Given the description of an element on the screen output the (x, y) to click on. 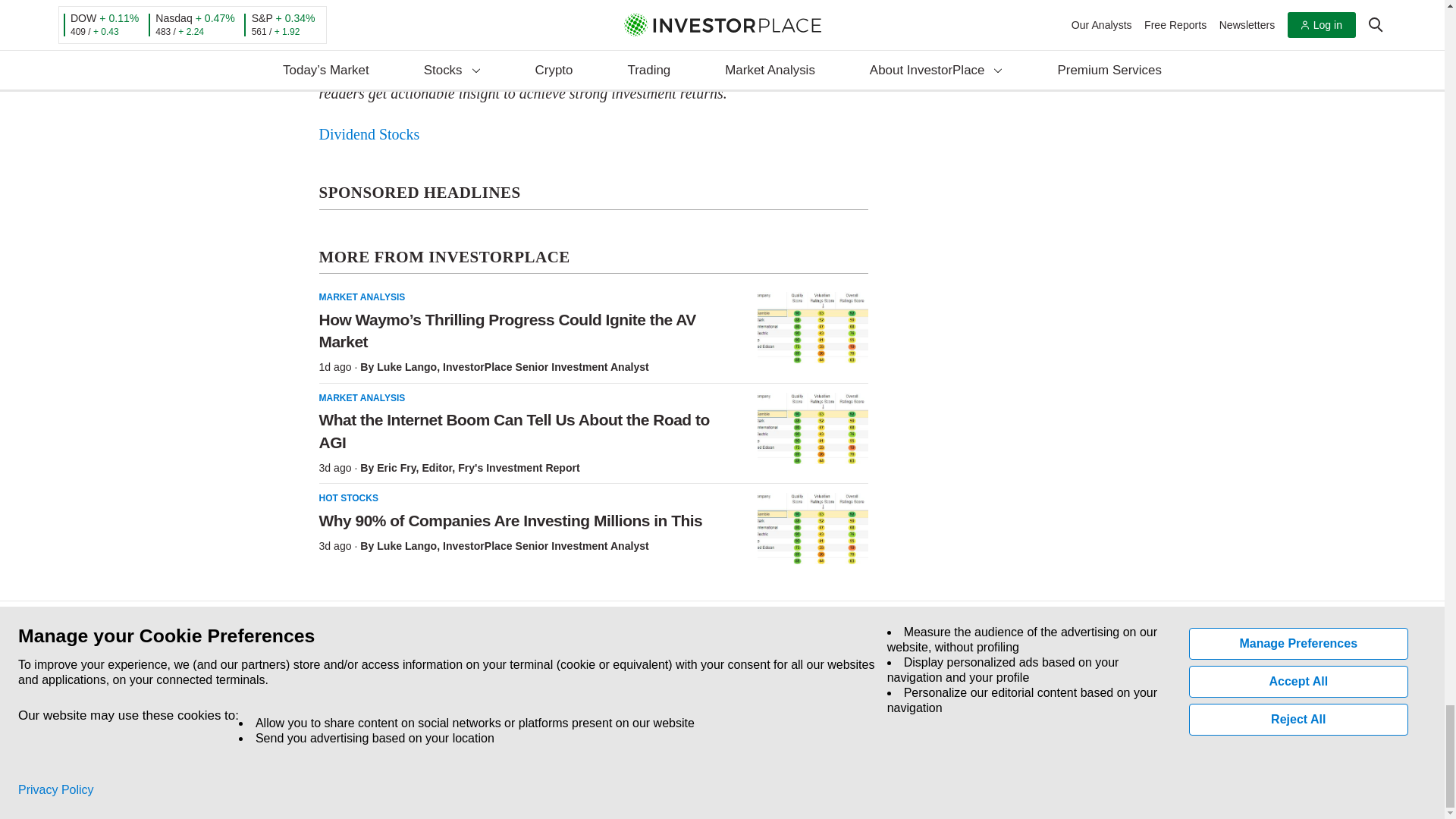
Subscribe to our RSS feed (389, 710)
View profile of Luke Lango (406, 545)
Articles from Dividend Stocks stock type (368, 134)
What the Internet Boom Can Tell Us About the Road to AGI (812, 428)
Visit our Facebook Page (319, 710)
View profile of Eric Fry (395, 467)
Visit our Twitter page (354, 710)
View profile of Luke Lango (406, 367)
